Given the description of an element on the screen output the (x, y) to click on. 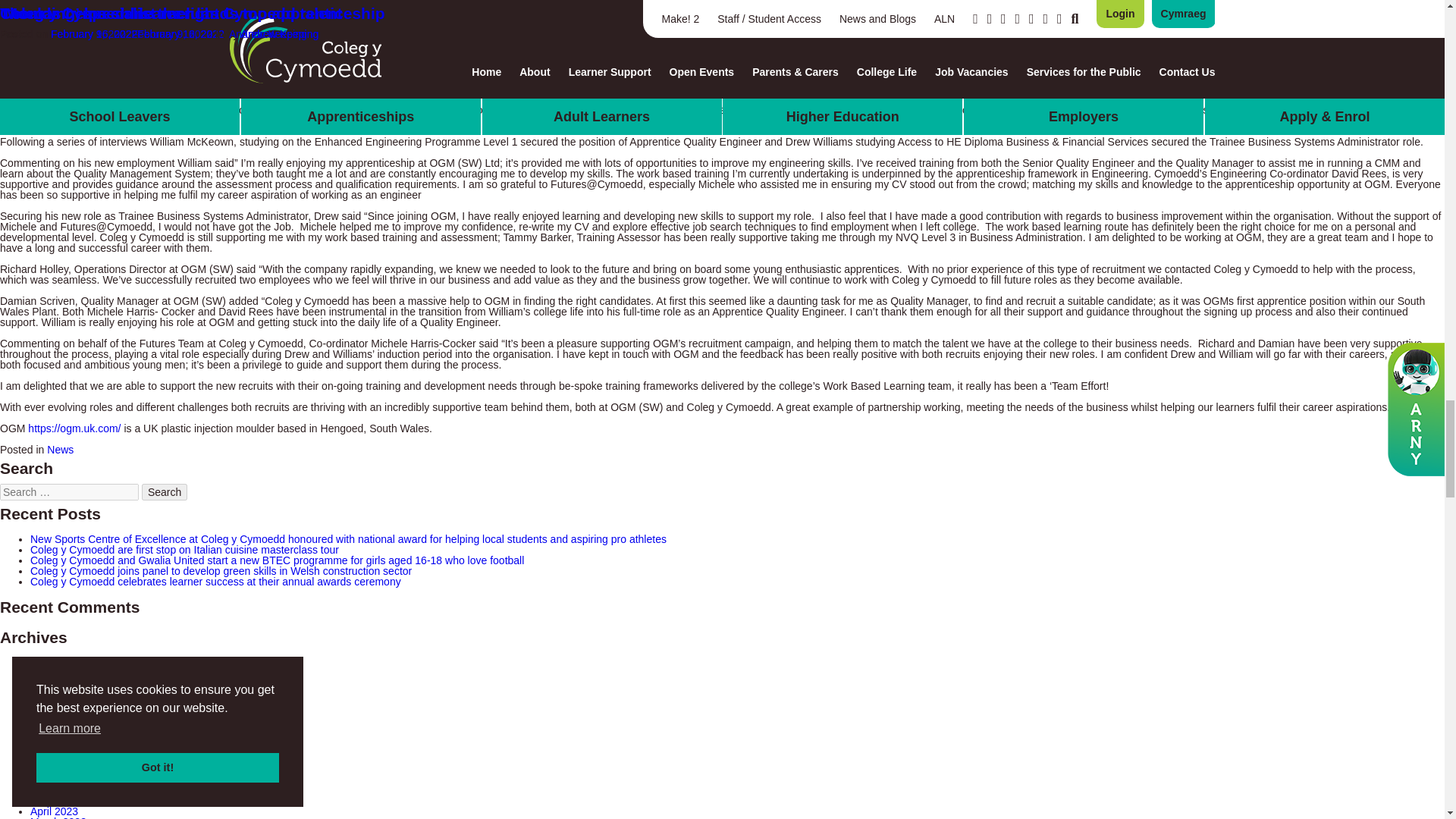
Search (164, 492)
Search (164, 492)
